Given the description of an element on the screen output the (x, y) to click on. 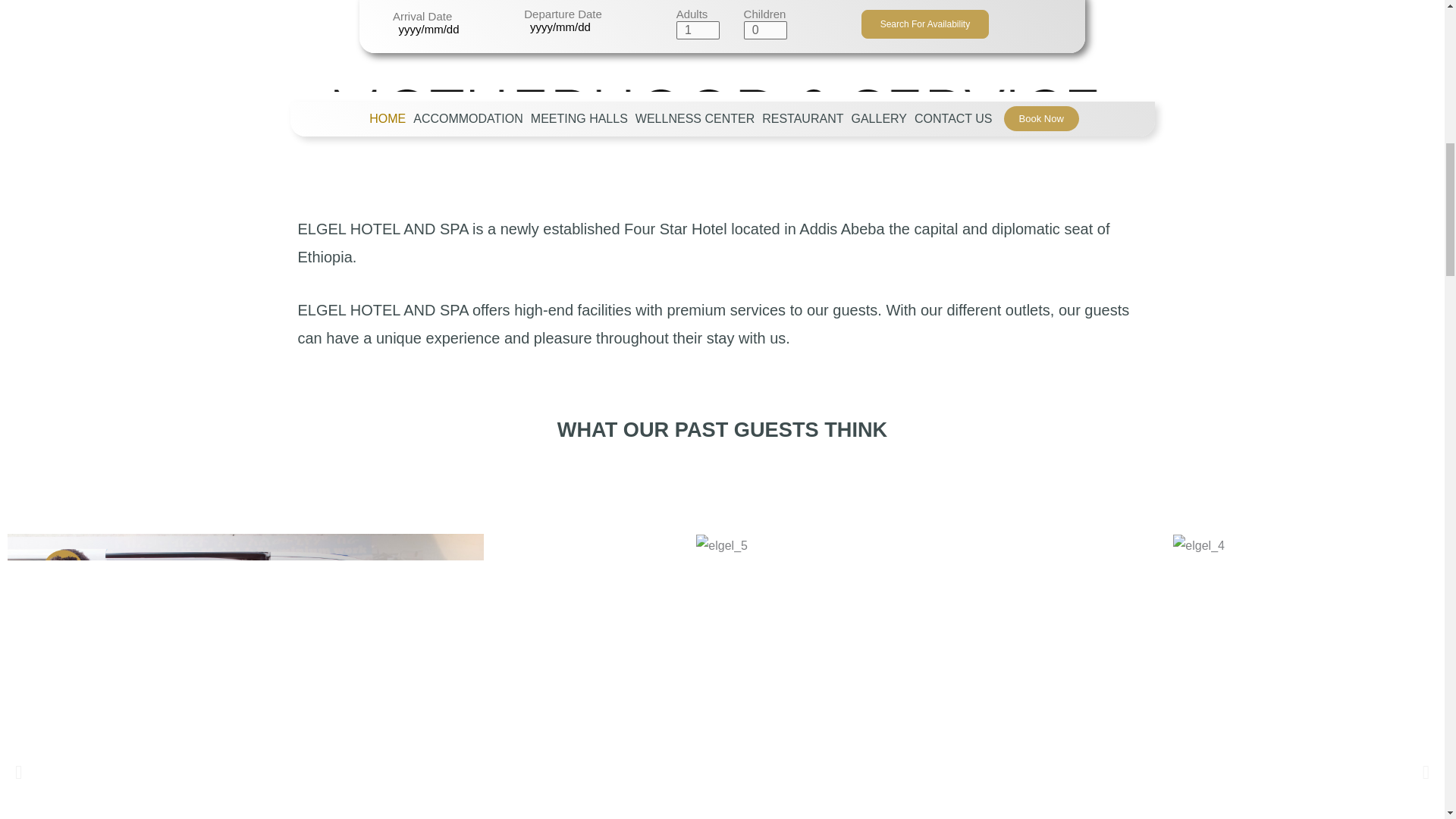
Search For Availability (925, 23)
1 (698, 30)
0 (765, 30)
